Given the description of an element on the screen output the (x, y) to click on. 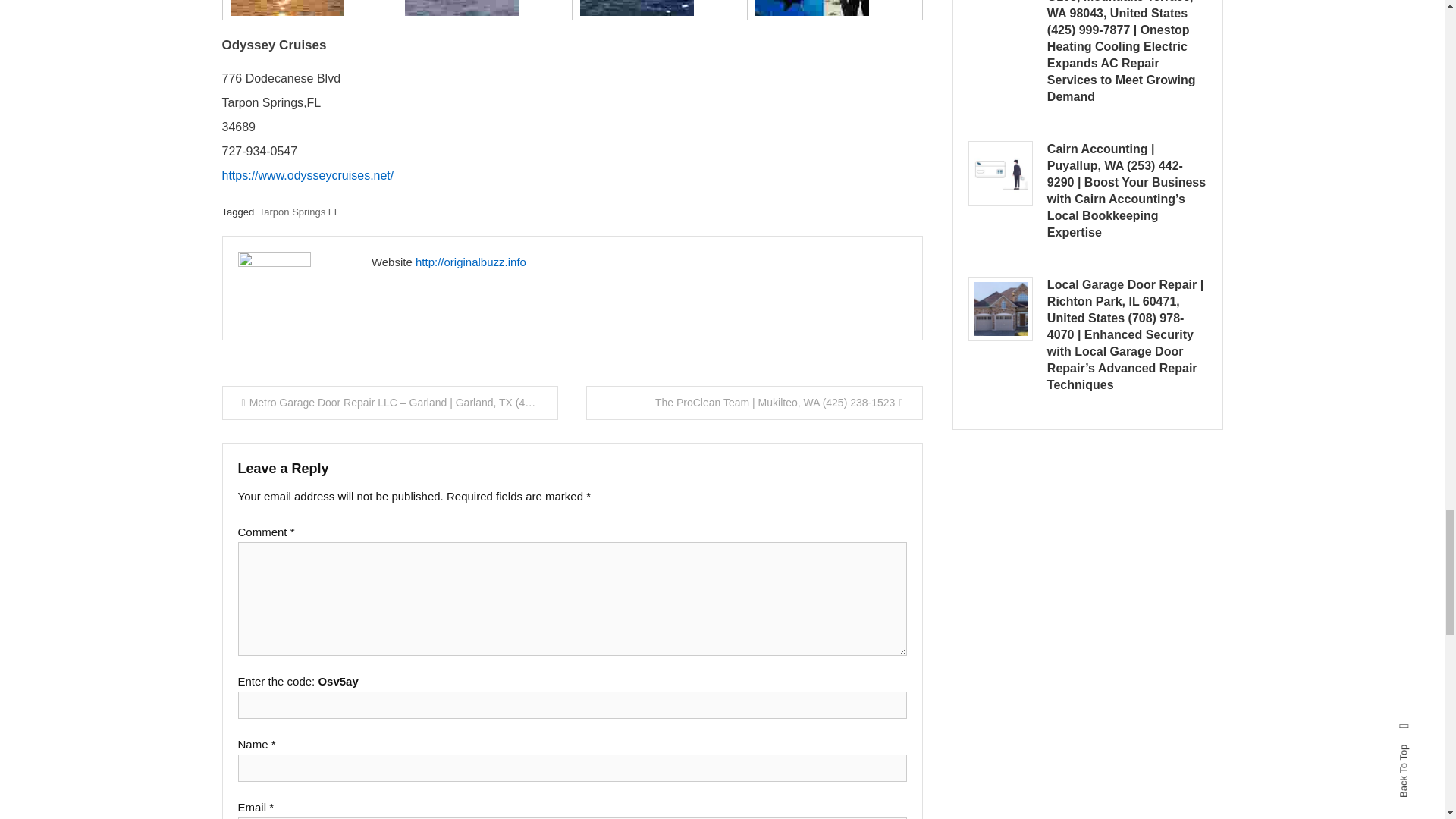
Odyssey Cruises Tarpon Springs Florida 727-934-0547 (812, 7)
Odyssey Cruises Tarpon Springs Florida 727-934-0547 (636, 7)
Odyssey Cruises Tarpon Springs Florida 727-934-0547 (461, 7)
Odyssey Cruises Tarpon Springs Florida 727-934-0547 (286, 7)
